Given the description of an element on the screen output the (x, y) to click on. 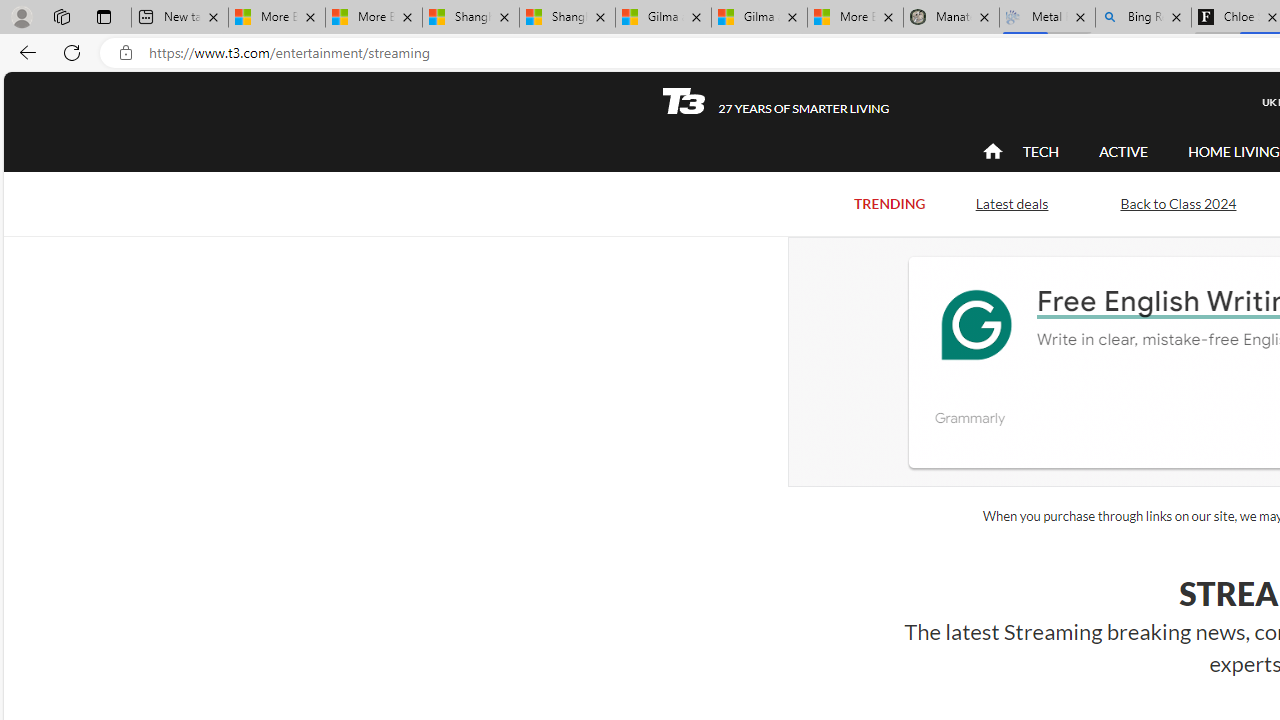
T3 (683, 100)
TECH (1040, 151)
T3 27 YEARS OF SMARTER LIVING (775, 101)
Latest deals (1011, 202)
Shanghai, China weather forecast | Microsoft Weather (567, 17)
TECH (1040, 151)
home (992, 152)
Latest deals (1011, 204)
